Given the description of an element on the screen output the (x, y) to click on. 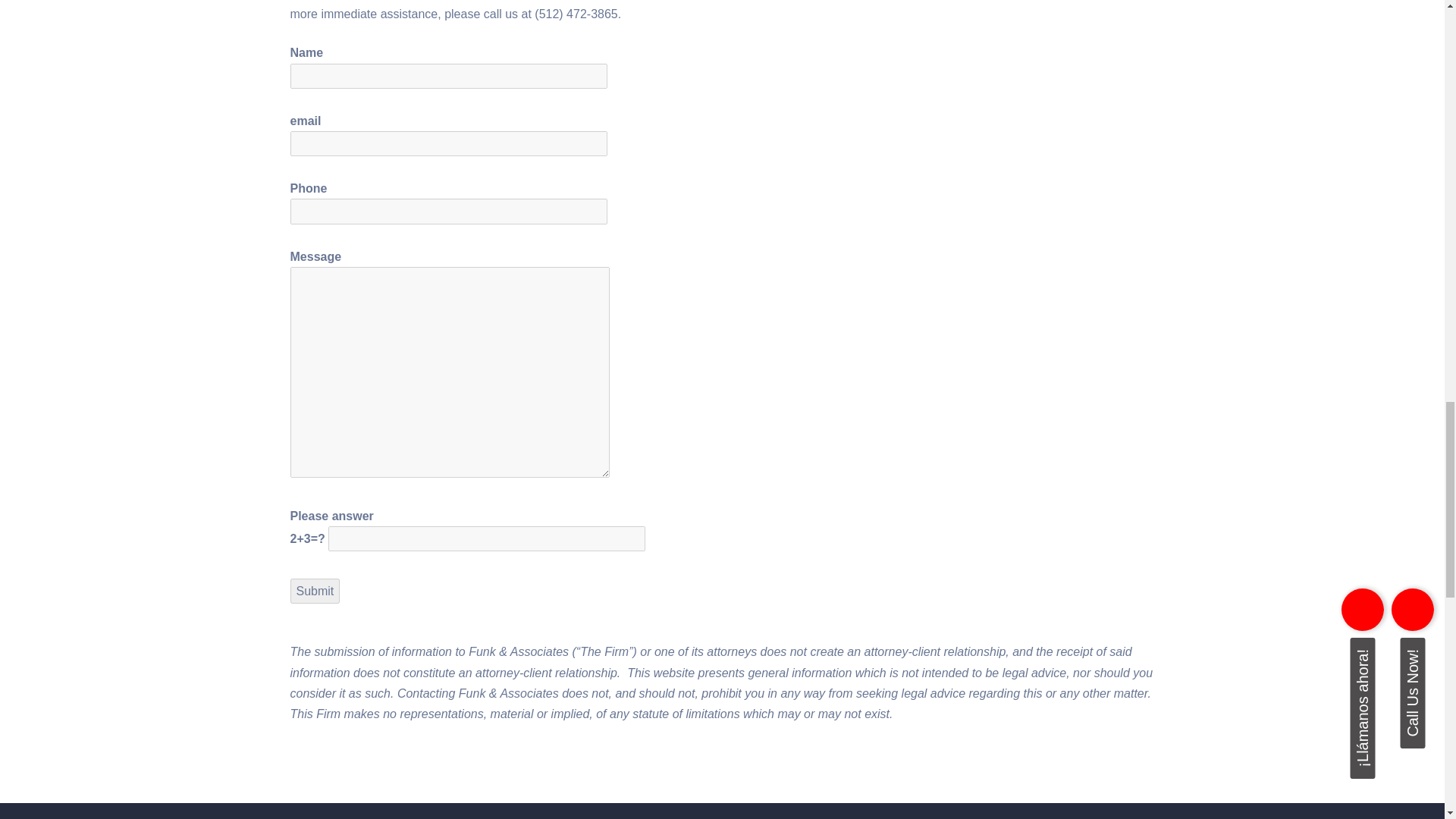
Submit (314, 590)
